Given the description of an element on the screen output the (x, y) to click on. 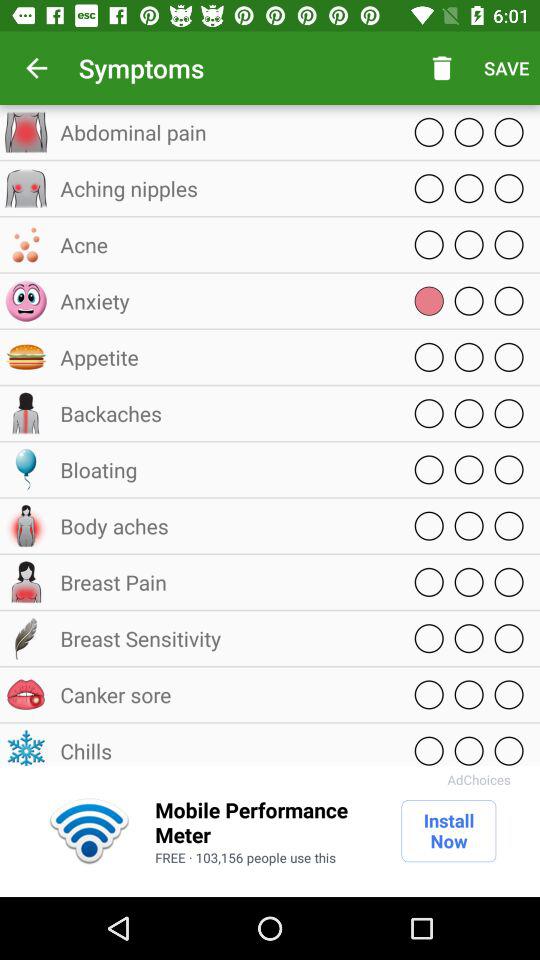
scroll to the install now (448, 831)
